Given the description of an element on the screen output the (x, y) to click on. 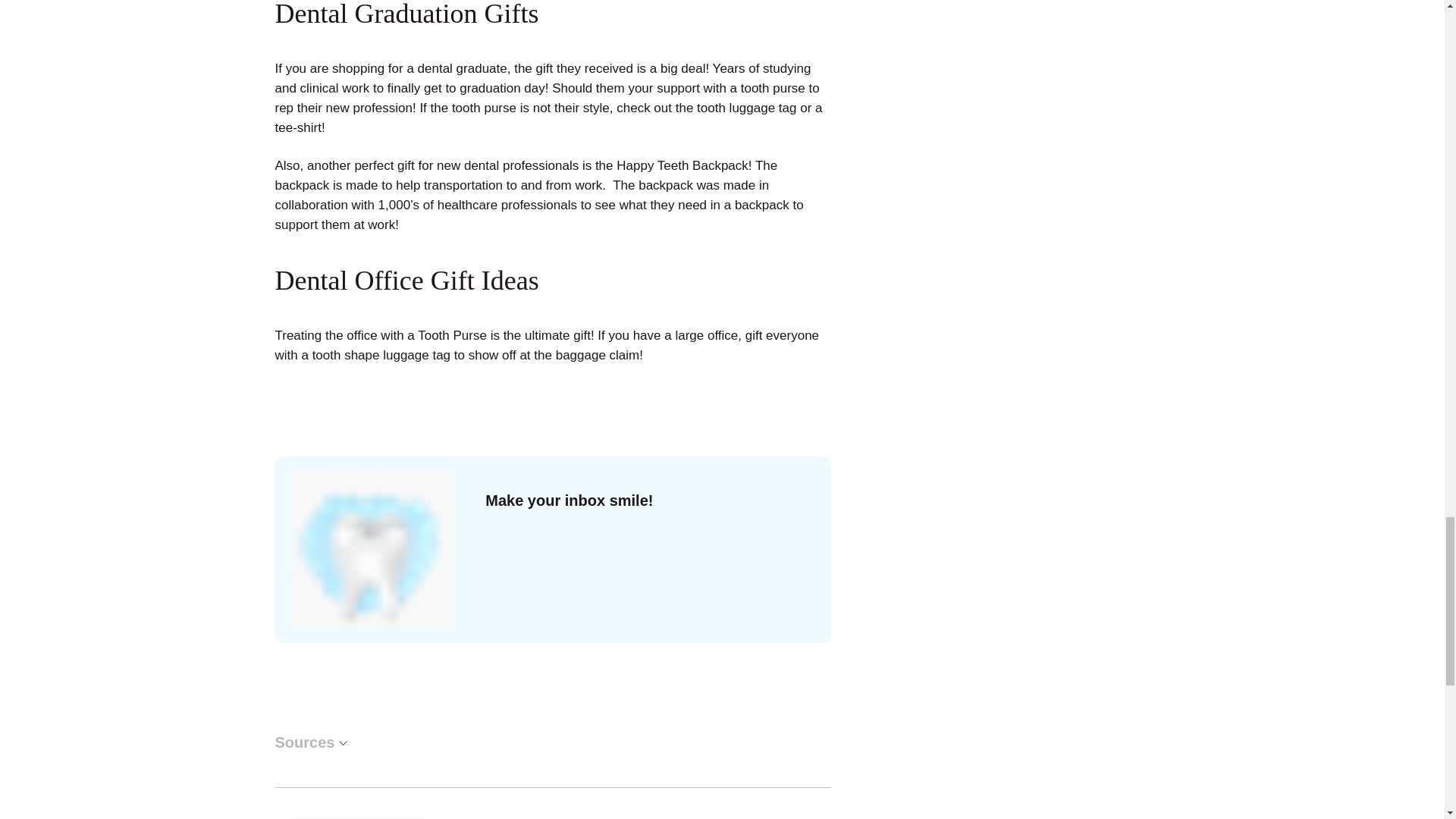
Sources (310, 741)
